Given the description of an element on the screen output the (x, y) to click on. 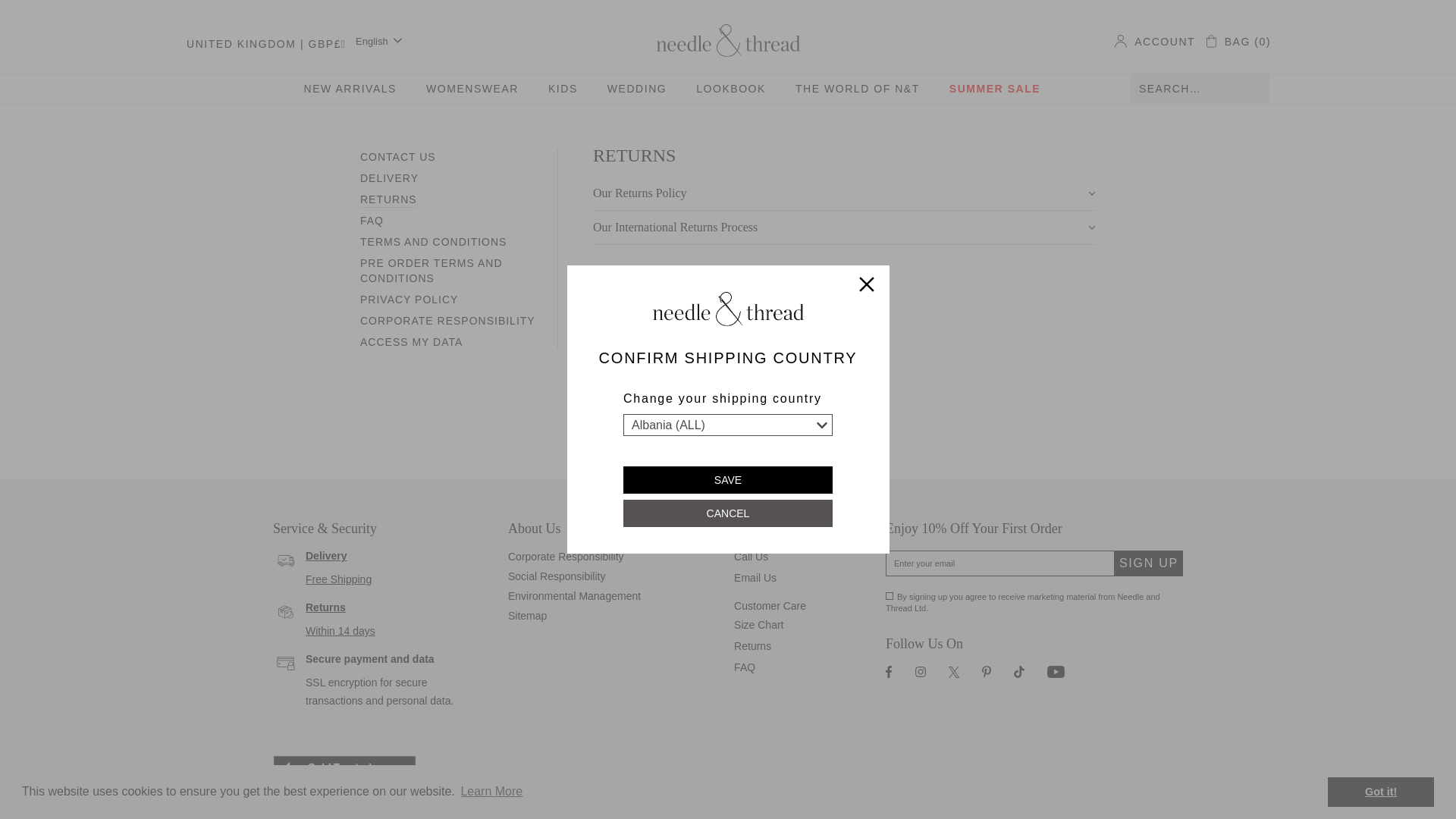
English (378, 41)
CANCEL (727, 513)
Got it! (1380, 791)
NEW ARRIVALS (350, 88)
SAVE (727, 479)
ACCOUNT (1155, 41)
Learn More (491, 791)
WOMENSWEAR (472, 88)
